Given the description of an element on the screen output the (x, y) to click on. 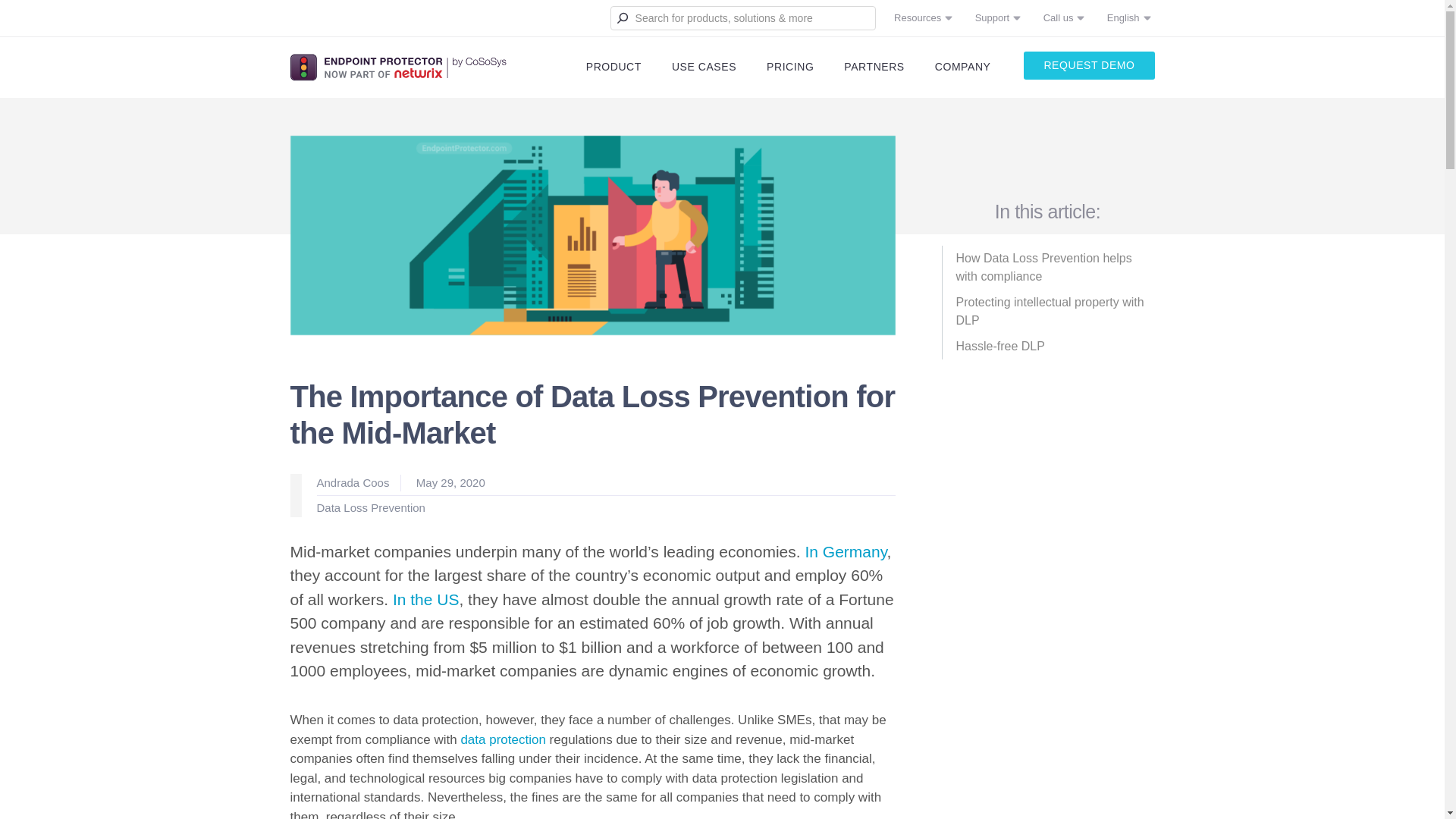
Resources (917, 18)
USE CASES (703, 66)
Support (992, 18)
PRODUCT (613, 66)
Call us (1058, 18)
English (1123, 18)
The Importance of Data Loss Prevention for the Mid-Market (592, 234)
